Given the description of an element on the screen output the (x, y) to click on. 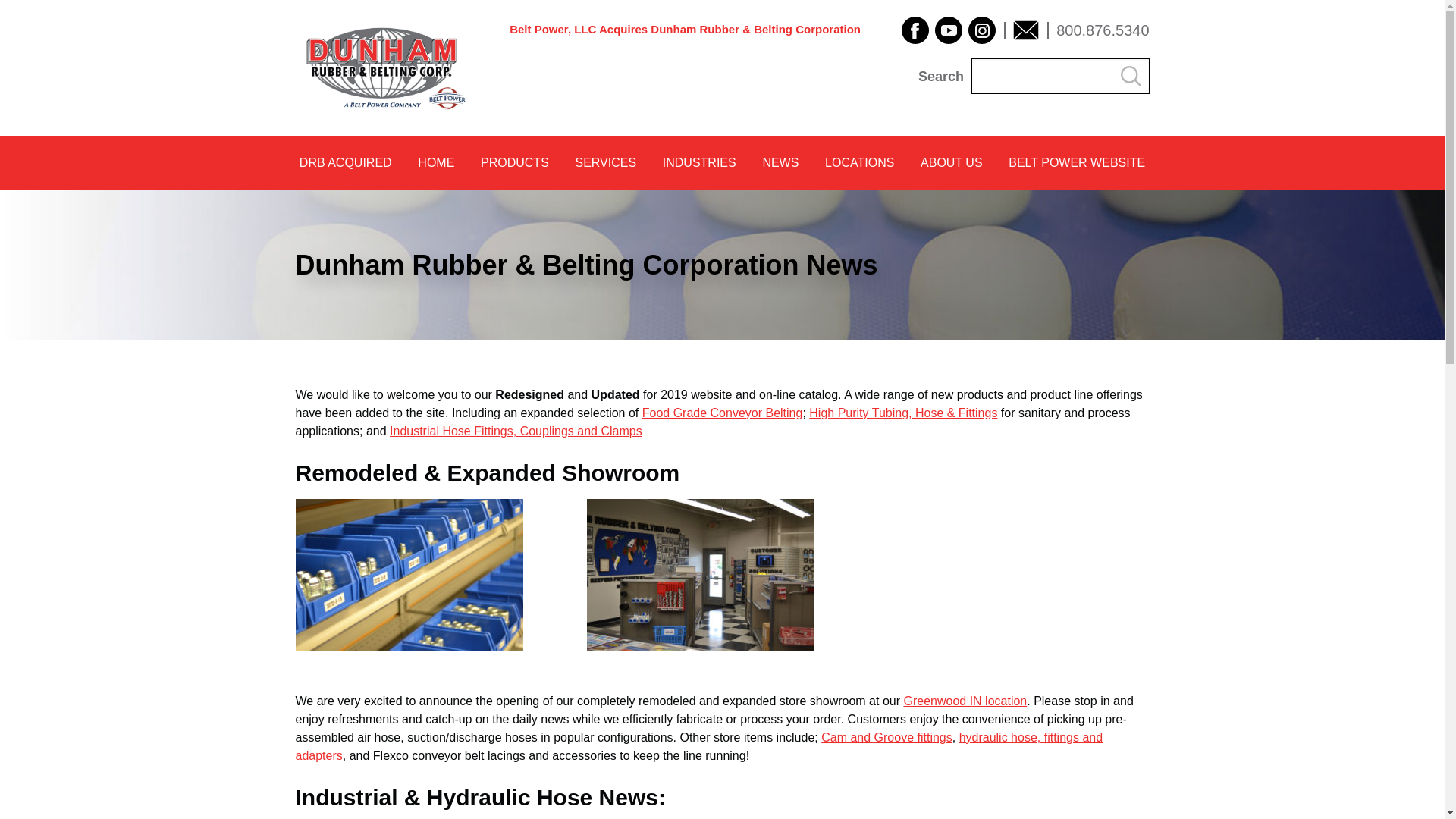
BELT POWER WEBSITE (1076, 162)
Food Grade Conveyor Belting (722, 412)
DRB ACQUIRED (345, 162)
PRODUCTS (514, 162)
SERVICES (605, 162)
ABOUT US (951, 162)
LOCATIONS (859, 162)
800.876.5340 (1102, 30)
INDUSTRIES (699, 162)
Search Our Site (1059, 76)
HOME (435, 162)
Search (1130, 76)
NEWS (780, 162)
